Given the description of an element on the screen output the (x, y) to click on. 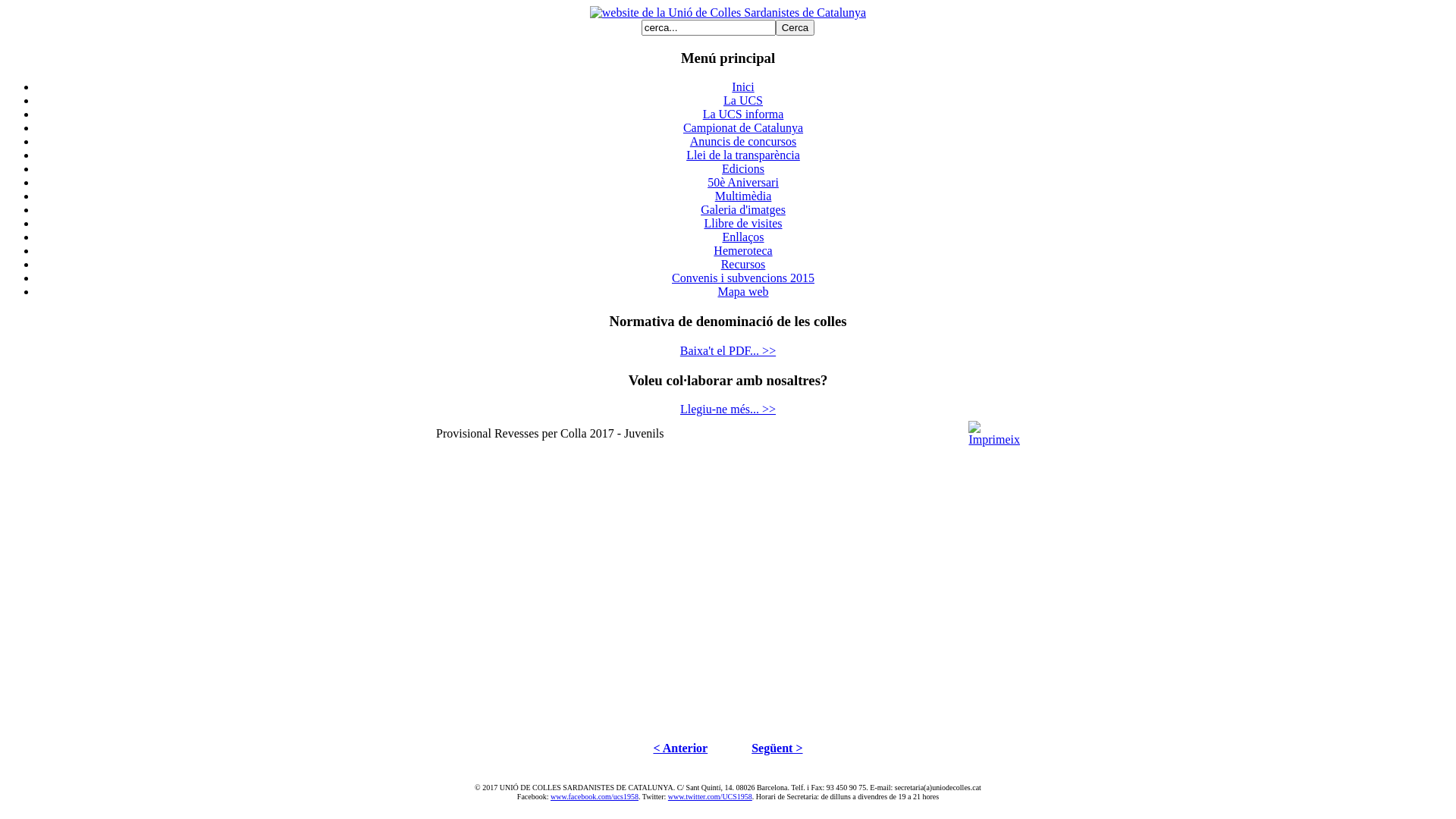
Convenis i subvencions 2015 Element type: text (742, 277)
Campionat de Catalunya Element type: text (743, 127)
Inici Element type: text (742, 86)
Galeria d'imatges Element type: text (742, 209)
La UCS informa Element type: text (743, 113)
Baixa't el PDF... >> Element type: text (727, 350)
Imprimeix Element type: hover (993, 439)
www.twitter.com/UCS1958 Element type: text (710, 796)
La UCS Element type: text (742, 100)
Mapa web Element type: text (742, 291)
Hemeroteca Element type: text (742, 250)
Cerca Element type: text (795, 27)
www.facebook.com/ucs1958 Element type: text (594, 796)
< Anterior Element type: text (679, 747)
Edicions Element type: text (742, 168)
Anuncis de concursos Element type: text (743, 140)
Recursos Element type: text (743, 263)
Llibre de visites Element type: text (742, 222)
